Given the description of an element on the screen output the (x, y) to click on. 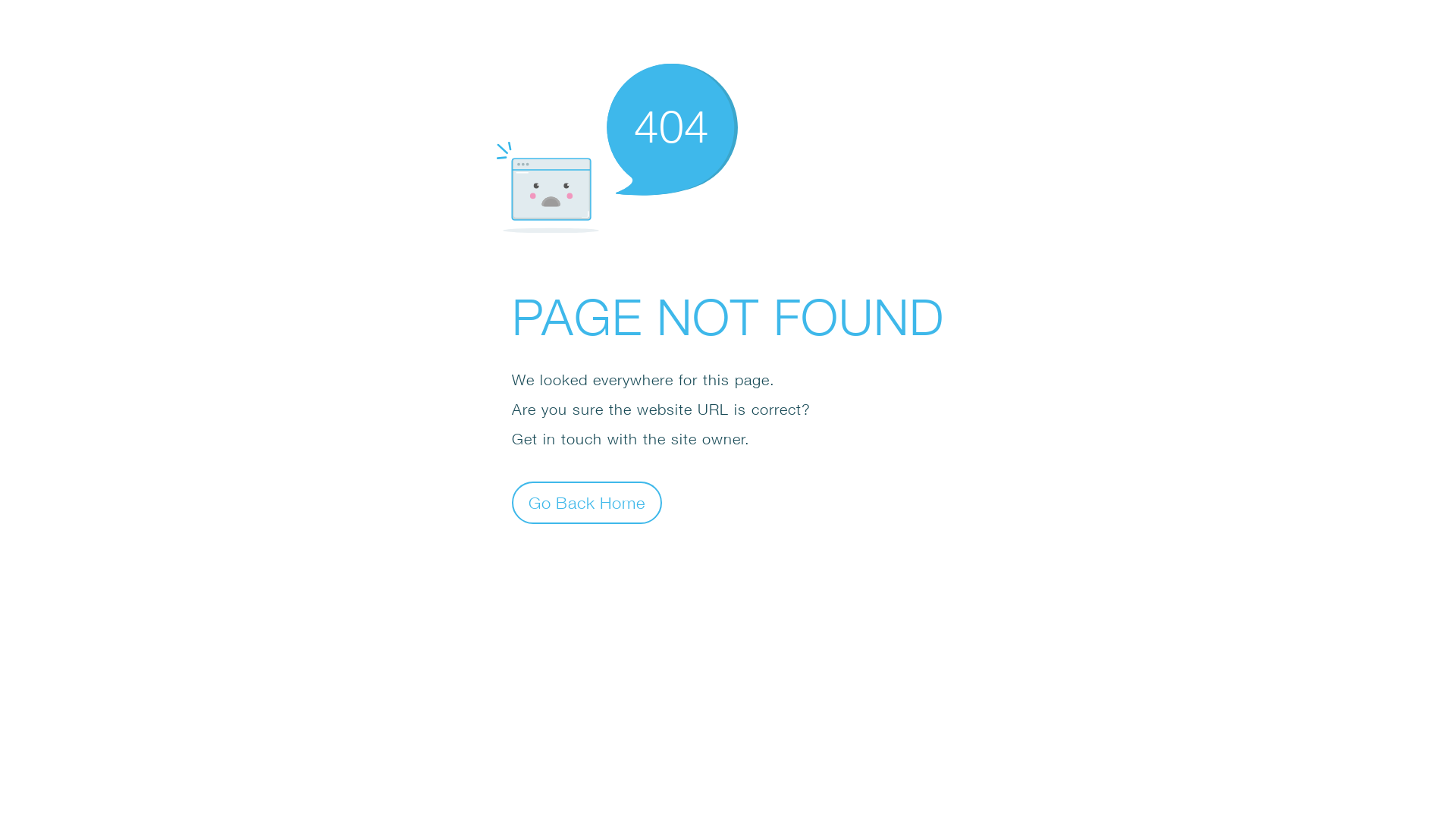
Go Back Home Element type: text (586, 502)
